Given the description of an element on the screen output the (x, y) to click on. 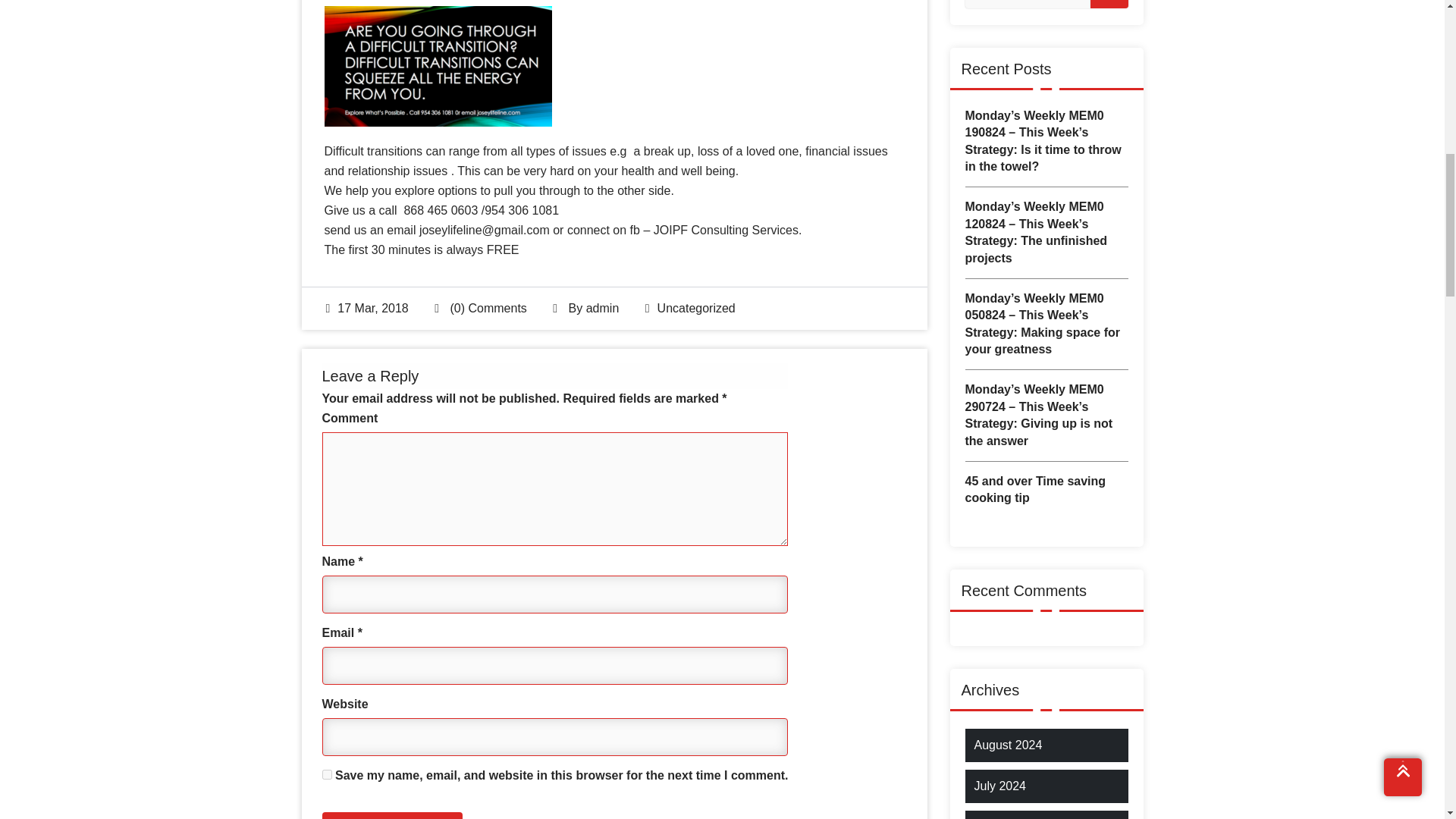
Post Comment (392, 815)
Post Comment (392, 815)
17 Mar, 2018 (367, 308)
July 2024 (1000, 786)
admin (603, 308)
Uncategorized (696, 308)
June 2024 (1002, 818)
August 2024 (1008, 745)
45 and over Time saving cooking tip (1044, 489)
yes (326, 774)
